Given the description of an element on the screen output the (x, y) to click on. 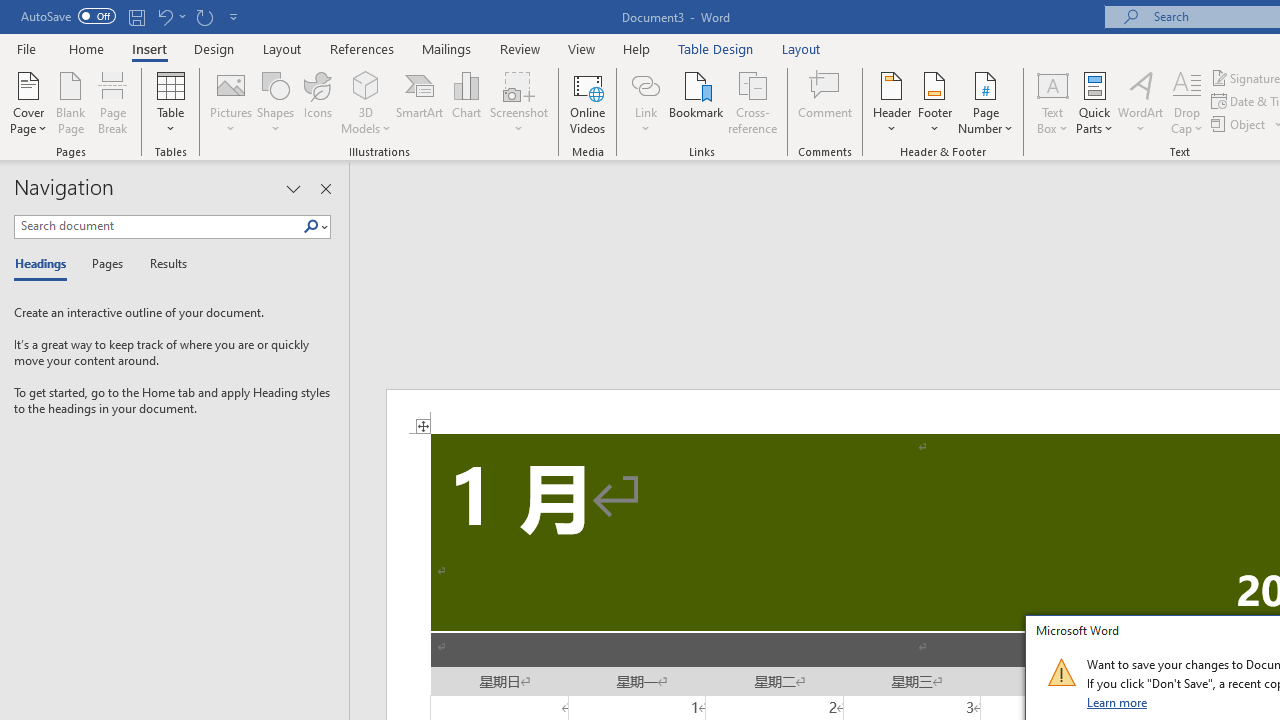
Chart... (466, 102)
Page Break (113, 102)
Footer (934, 102)
Shapes (275, 102)
WordArt (1141, 102)
Table (170, 102)
